Given the description of an element on the screen output the (x, y) to click on. 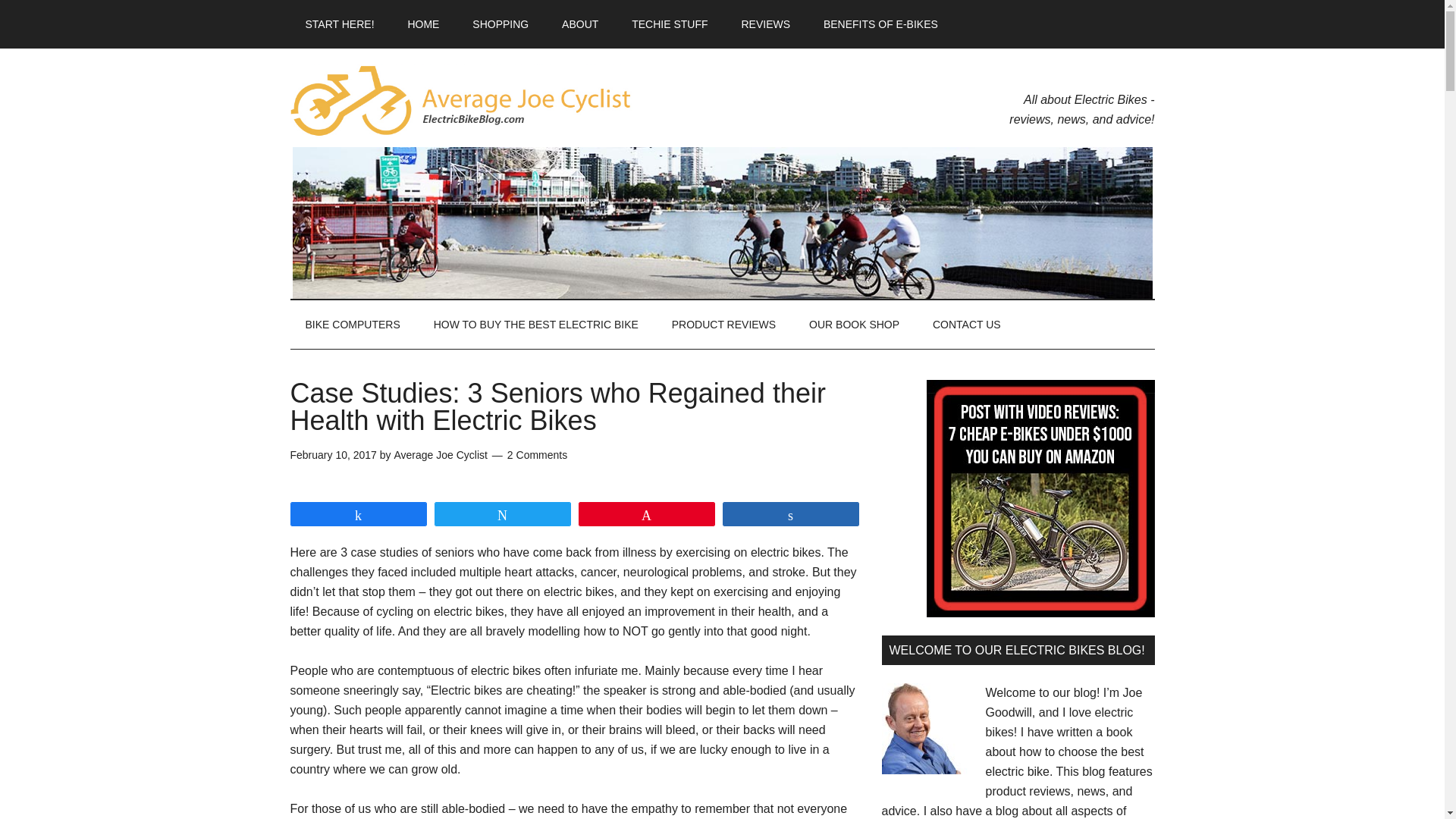
TECHIE STUFF (668, 24)
START HERE! (338, 24)
SHOPPING (500, 24)
ABOUT (579, 24)
HOME (422, 24)
